Given the description of an element on the screen output the (x, y) to click on. 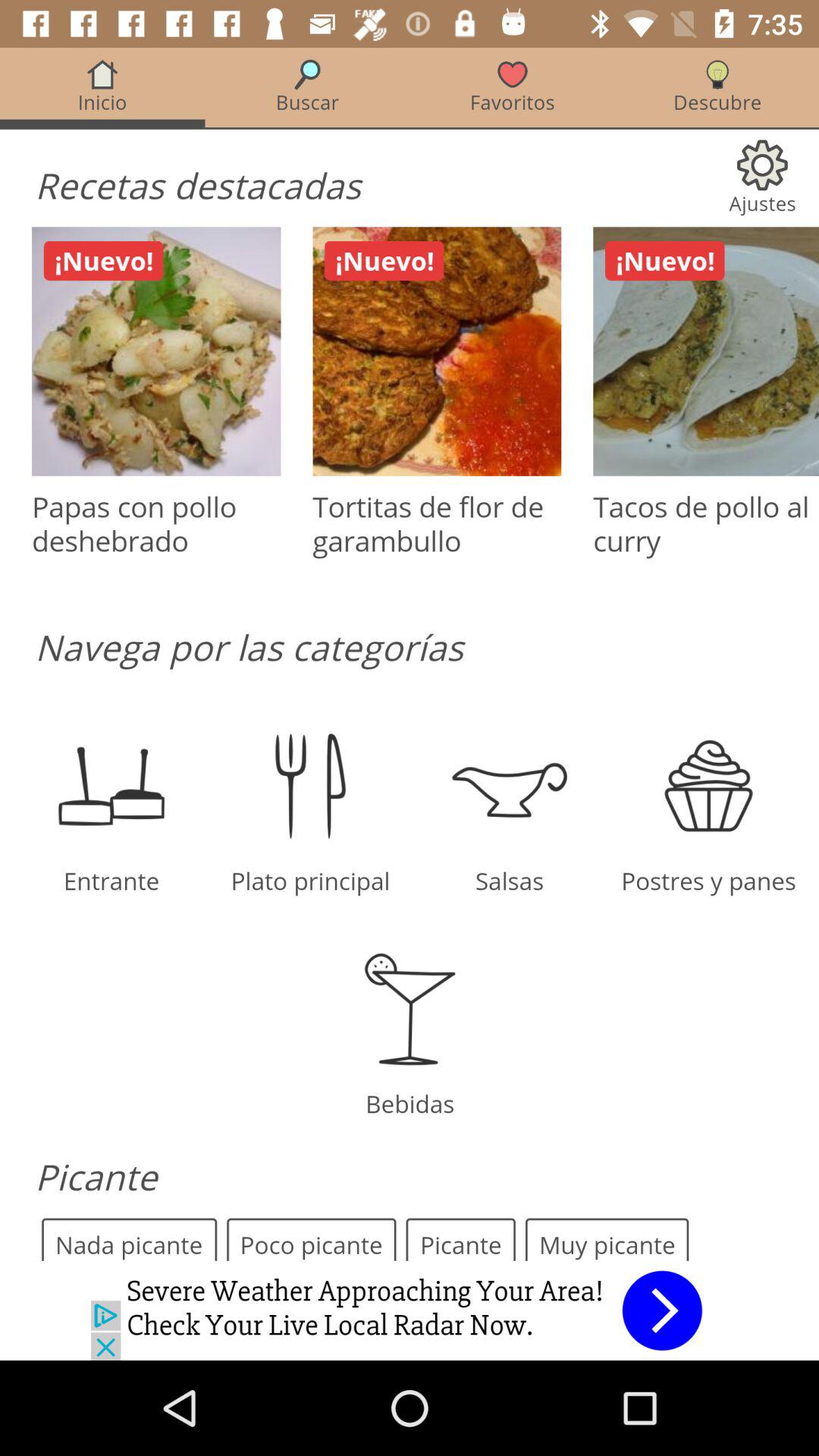
to go setting vector (409, 653)
